Given the description of an element on the screen output the (x, y) to click on. 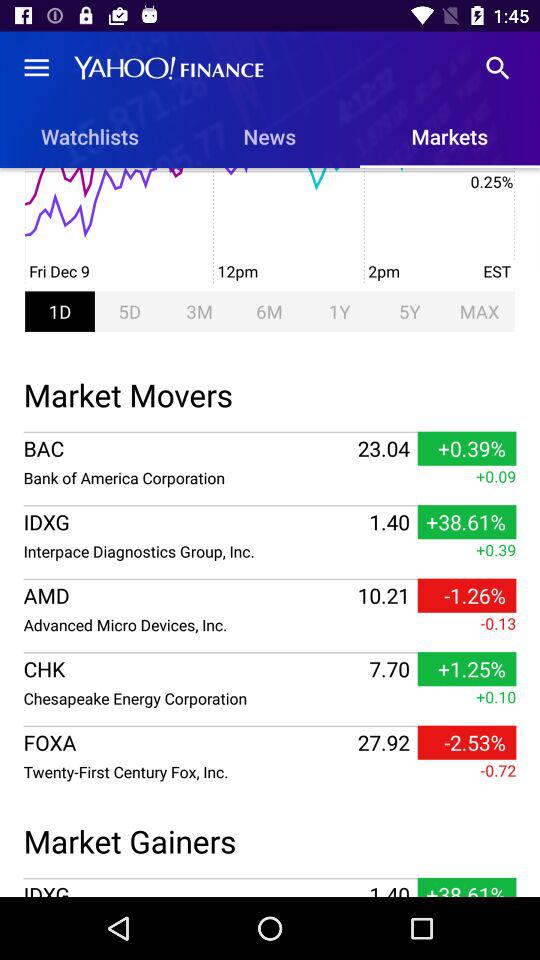
choose the market movers (270, 391)
